Given the description of an element on the screen output the (x, y) to click on. 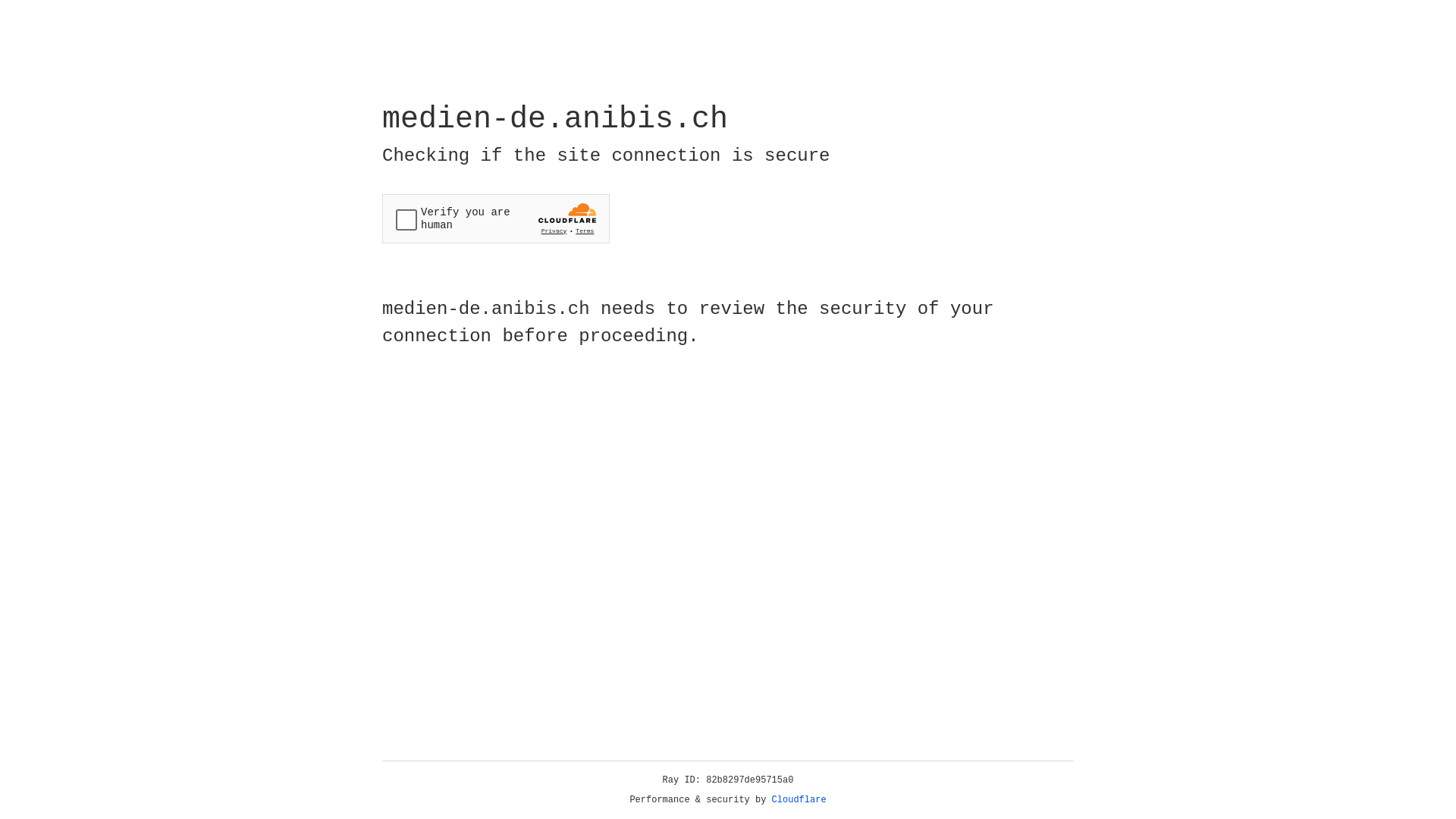
Widget containing a Cloudflare security challenge Element type: hover (495, 218)
Cloudflare Element type: text (798, 799)
